Given the description of an element on the screen output the (x, y) to click on. 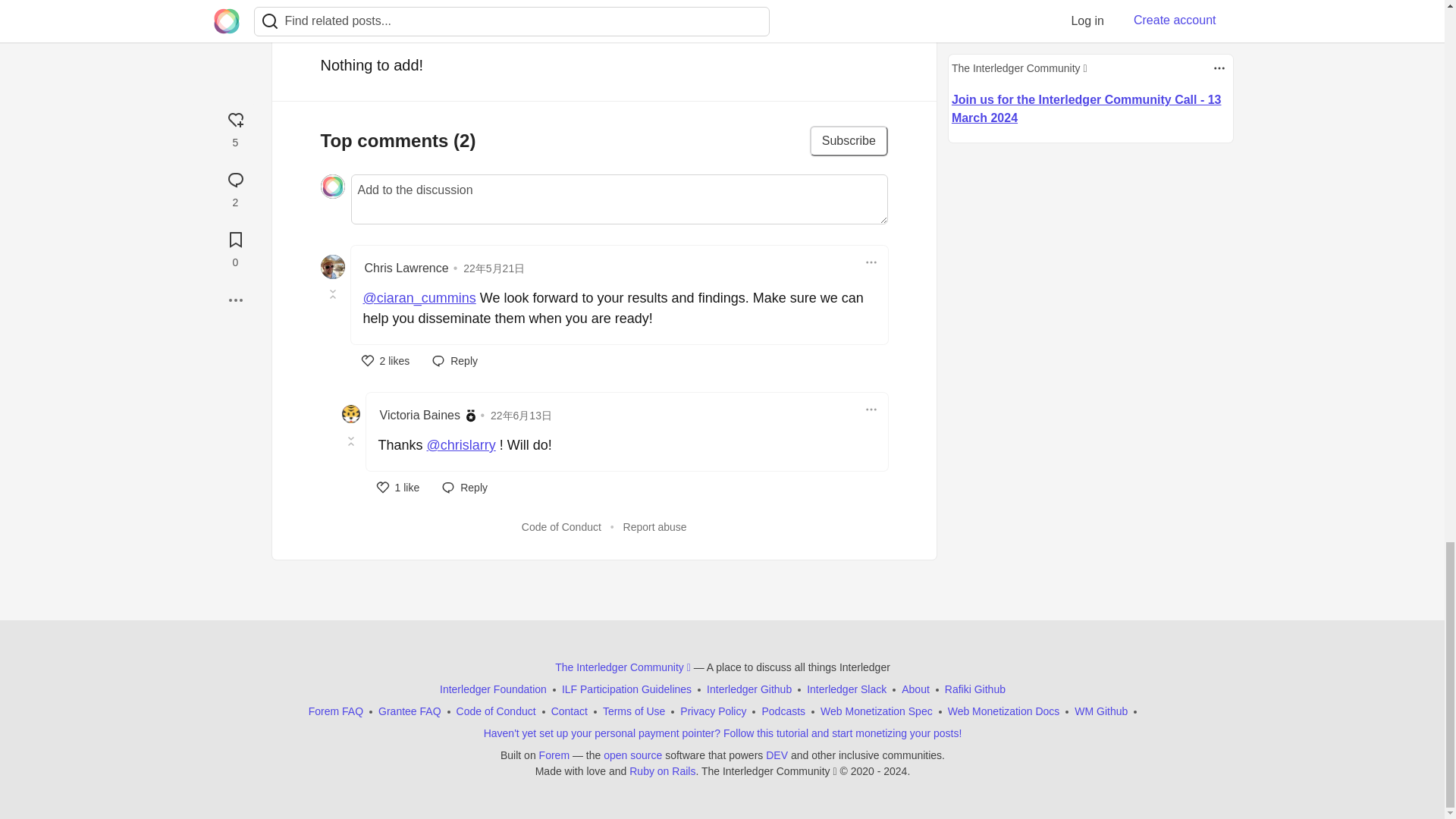
Subscribe (848, 141)
Dropdown menu (870, 409)
Dropdown menu (870, 262)
